Given the description of an element on the screen output the (x, y) to click on. 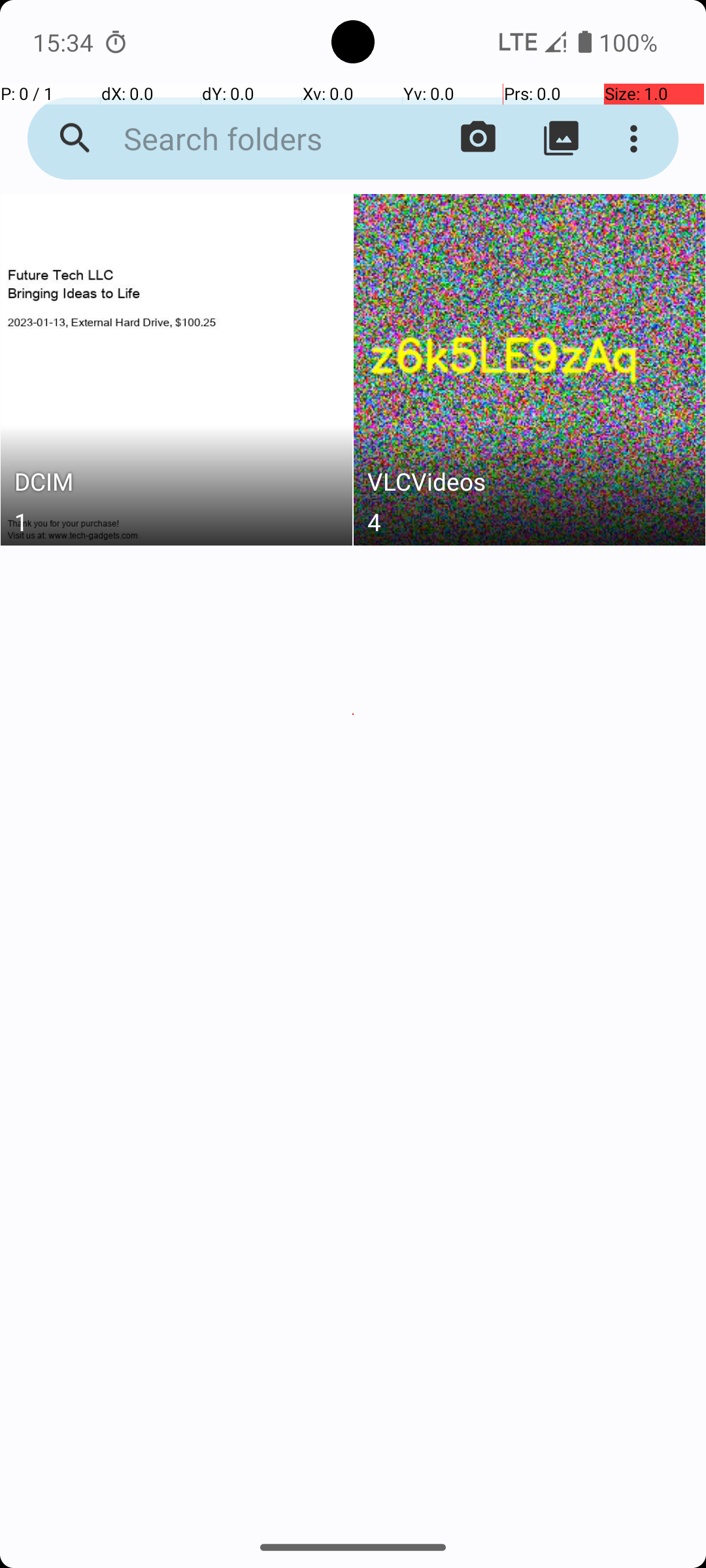
Open camera Element type: android.widget.Button (477, 138)
Show all folders content Element type: android.widget.Button (560, 138)
VLCVideos Element type: android.widget.TextView (529, 484)
